Given the description of an element on the screen output the (x, y) to click on. 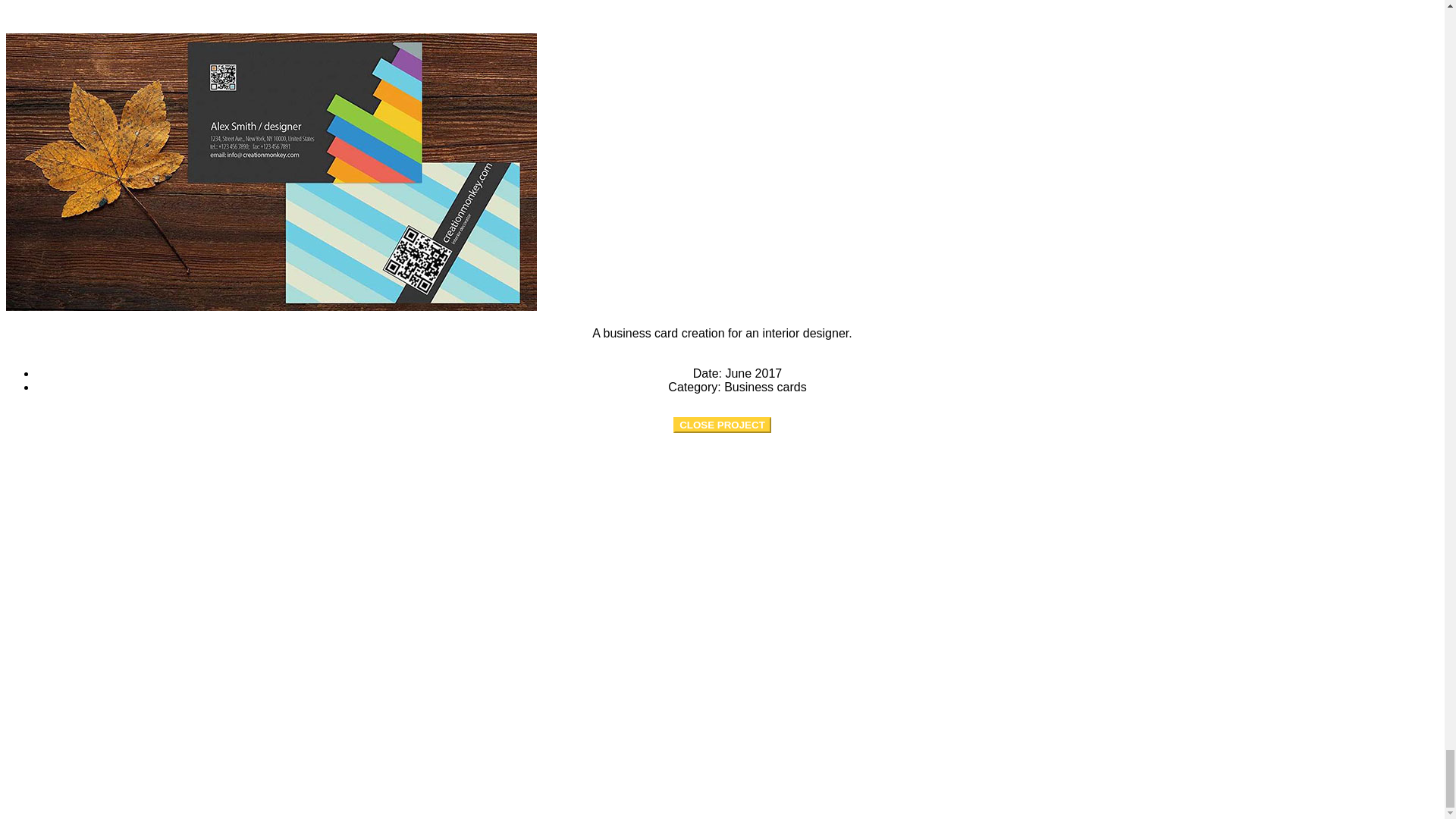
CLOSE PROJECT (721, 424)
